Given the description of an element on the screen output the (x, y) to click on. 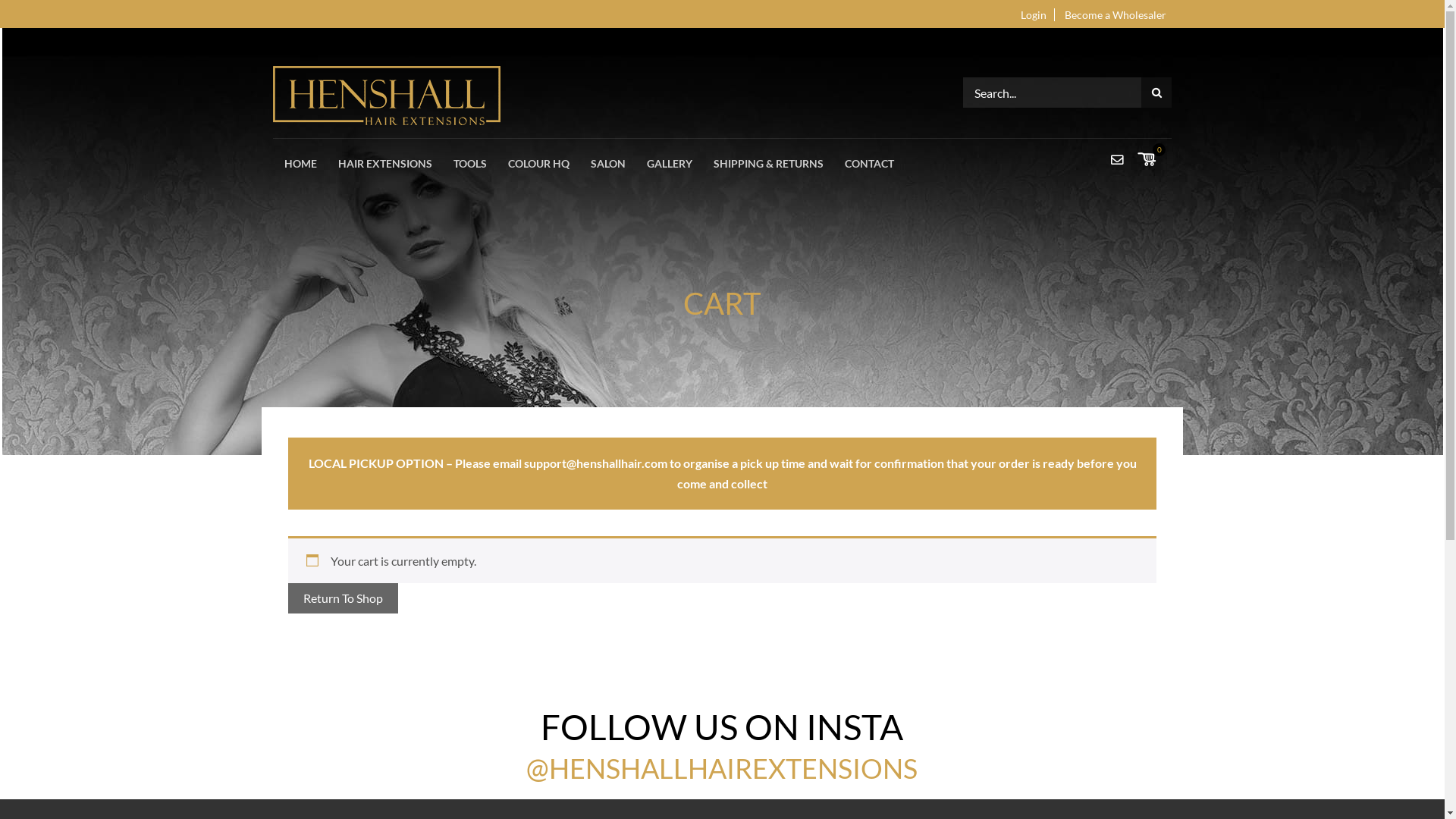
TOOLS Element type: text (469, 162)
SALON Element type: text (607, 162)
HOME Element type: text (300, 162)
SHIPPING & RETURNS Element type: text (768, 162)
COLOUR HQ Element type: text (538, 162)
GALLERY Element type: text (669, 162)
CONTACT Element type: text (869, 162)
0 Element type: text (1158, 149)
HAIR EXTENSIONS Element type: text (385, 162)
Return To Shop Element type: text (343, 598)
Become a Wholesaler Element type: text (1115, 14)
Login Element type: text (1033, 14)
